Given the description of an element on the screen output the (x, y) to click on. 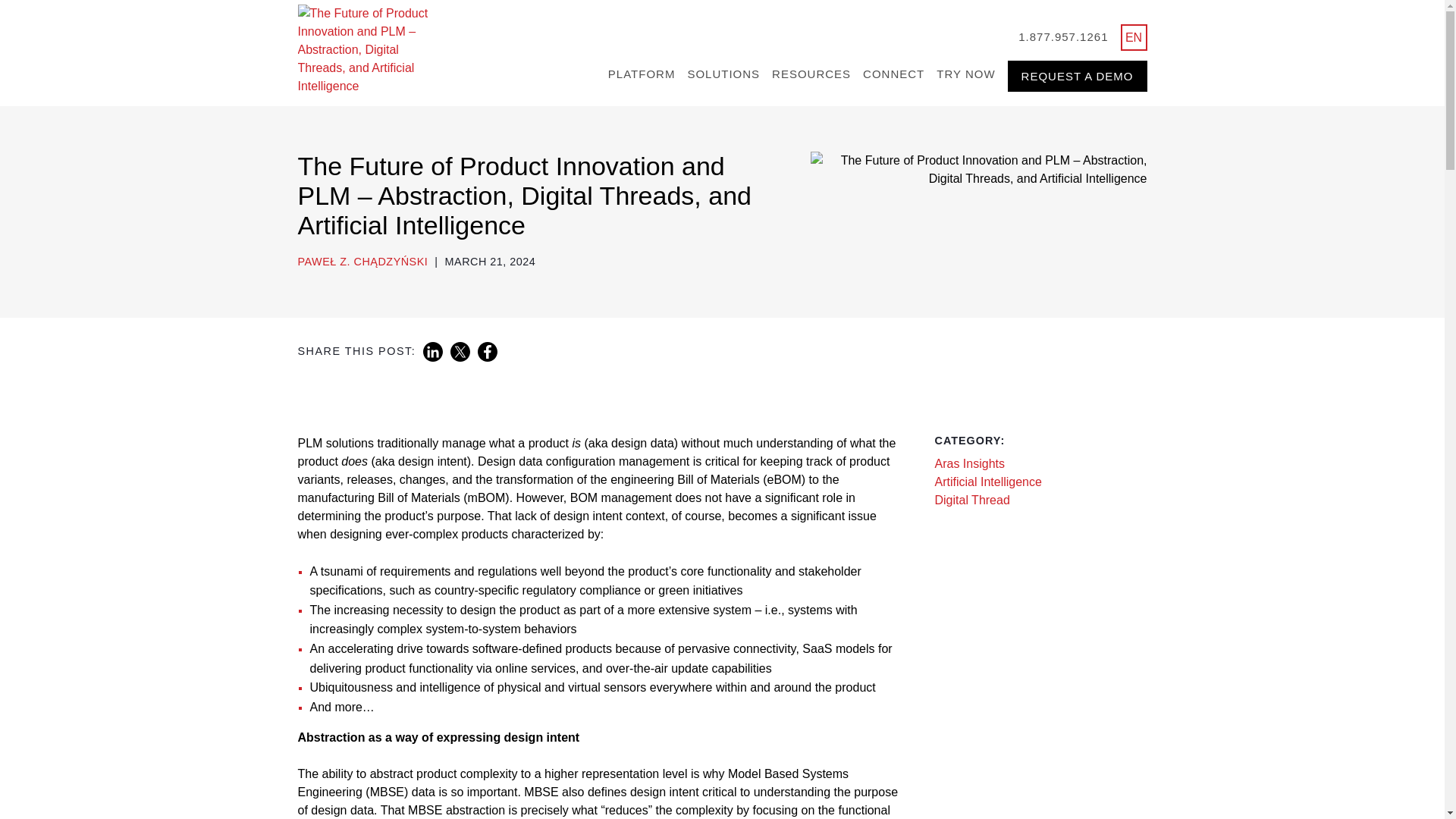
Search for: (996, 36)
